Given the description of an element on the screen output the (x, y) to click on. 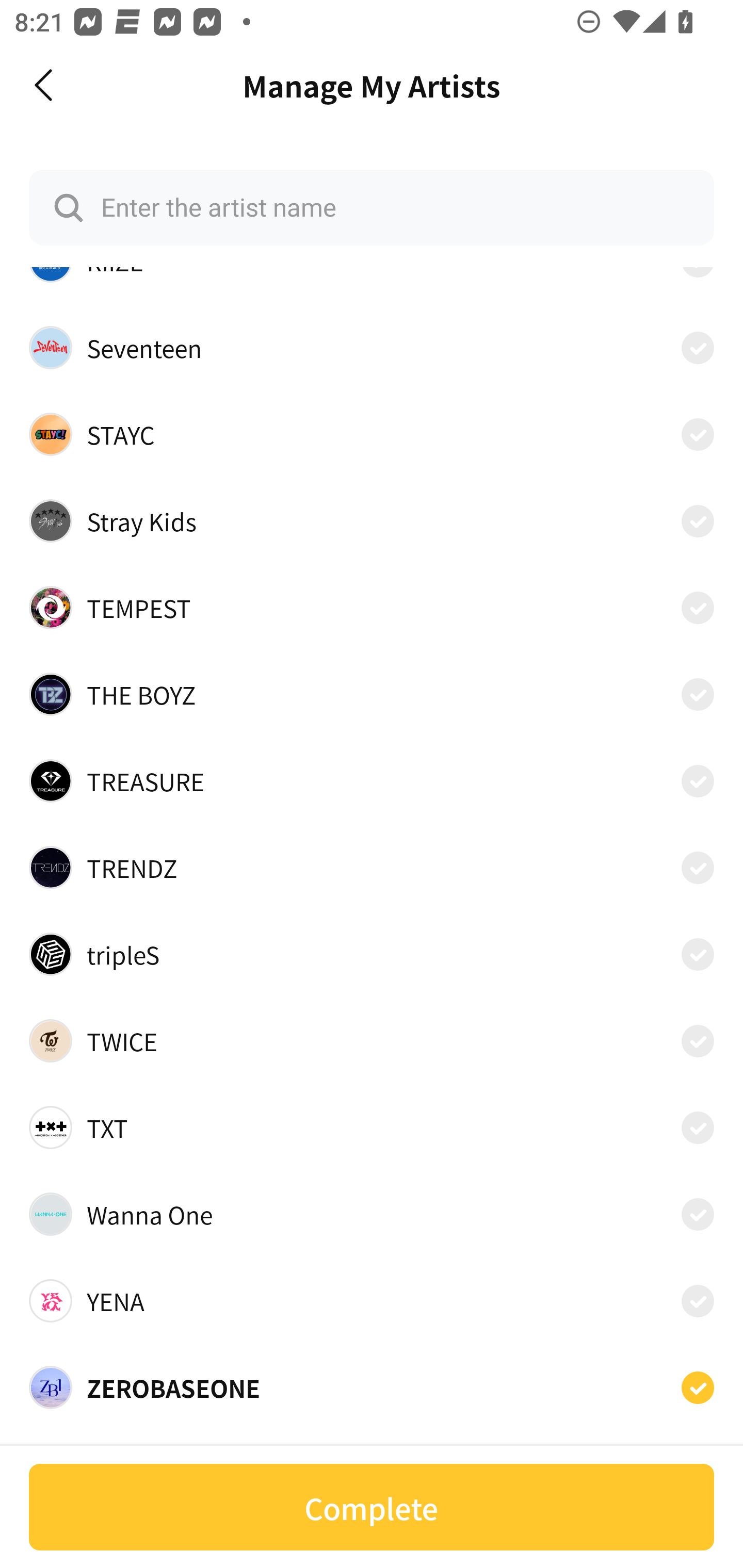
Enter the artist name (371, 207)
Seventeen (371, 348)
STAYC (371, 434)
Stray Kids (371, 520)
TEMPEST (371, 607)
THE BOYZ (371, 694)
TREASURE (371, 780)
TRENDZ (371, 867)
tripleS (371, 953)
TWICE (371, 1041)
TXT (371, 1127)
Wanna One (371, 1214)
YENA (371, 1300)
ZEROBASEONE (371, 1387)
Complete (371, 1507)
